Given the description of an element on the screen output the (x, y) to click on. 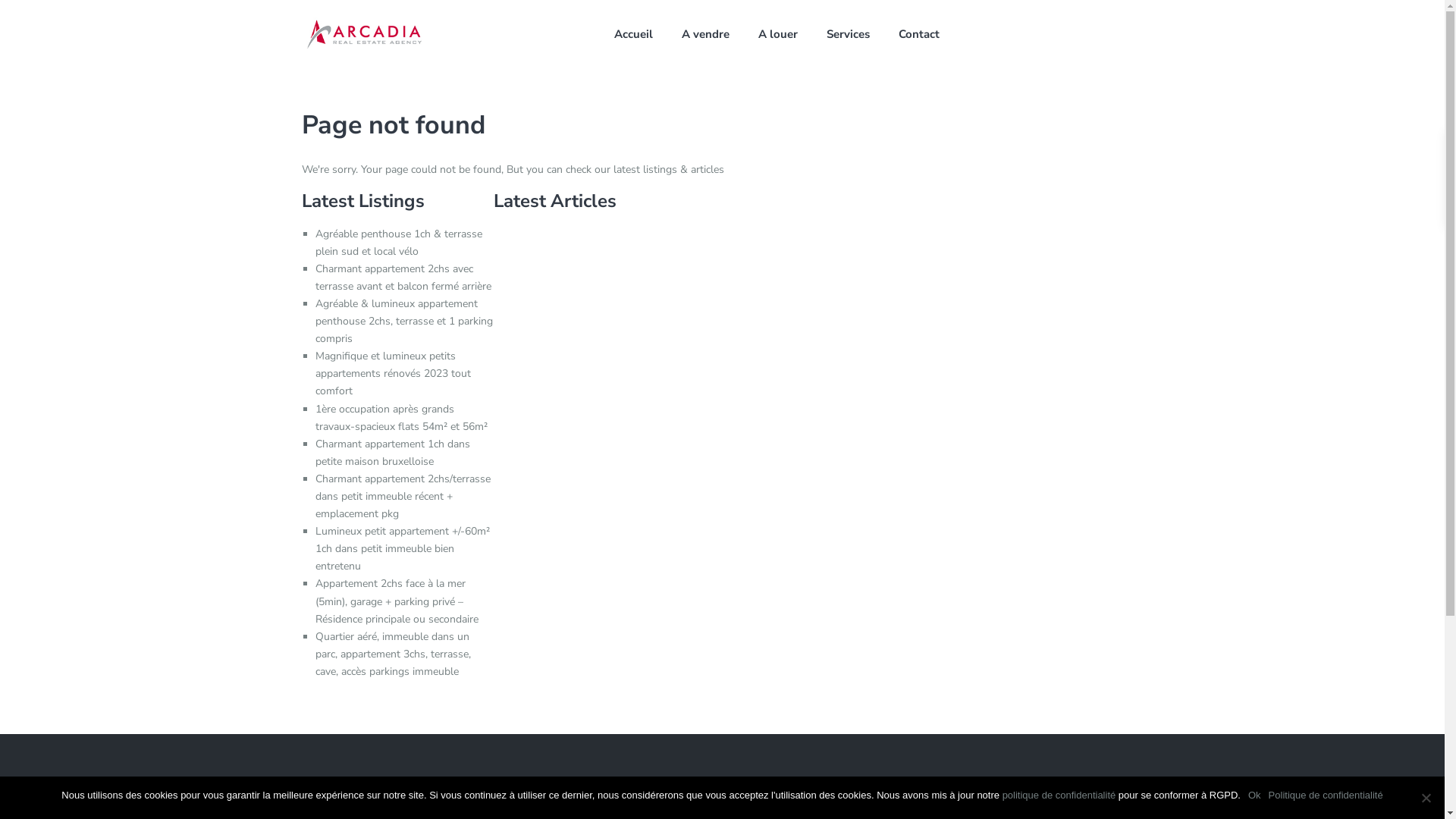
Ok Element type: text (1254, 795)
Contact Element type: text (918, 34)
A vendre Element type: text (705, 34)
Services Element type: text (848, 34)
A louer Element type: text (777, 34)
Accueil Element type: text (633, 34)
Charmant appartement 1ch dans petite maison bruxelloise Element type: text (392, 452)
Non Element type: hover (1425, 797)
